Given the description of an element on the screen output the (x, y) to click on. 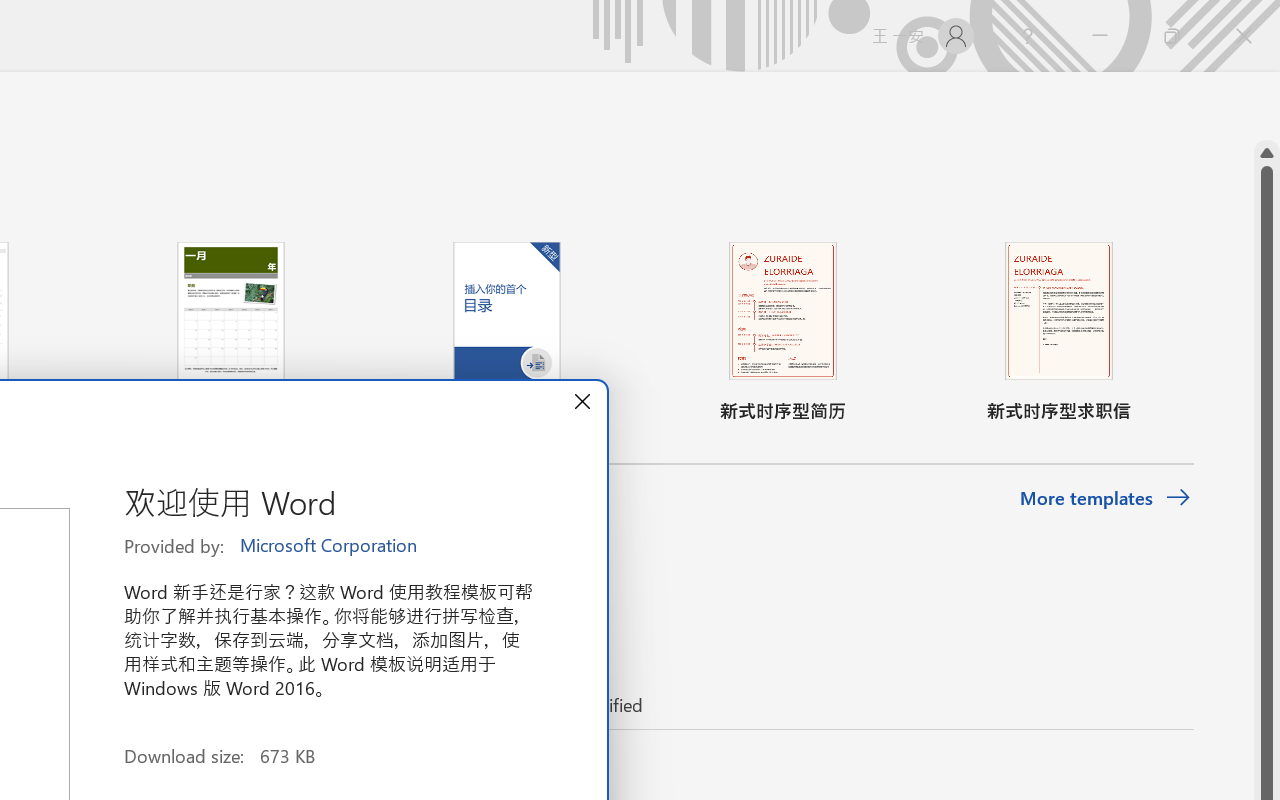
Microsoft Corporation (330, 546)
Line up (1267, 153)
More templates (1105, 498)
